Given the description of an element on the screen output the (x, y) to click on. 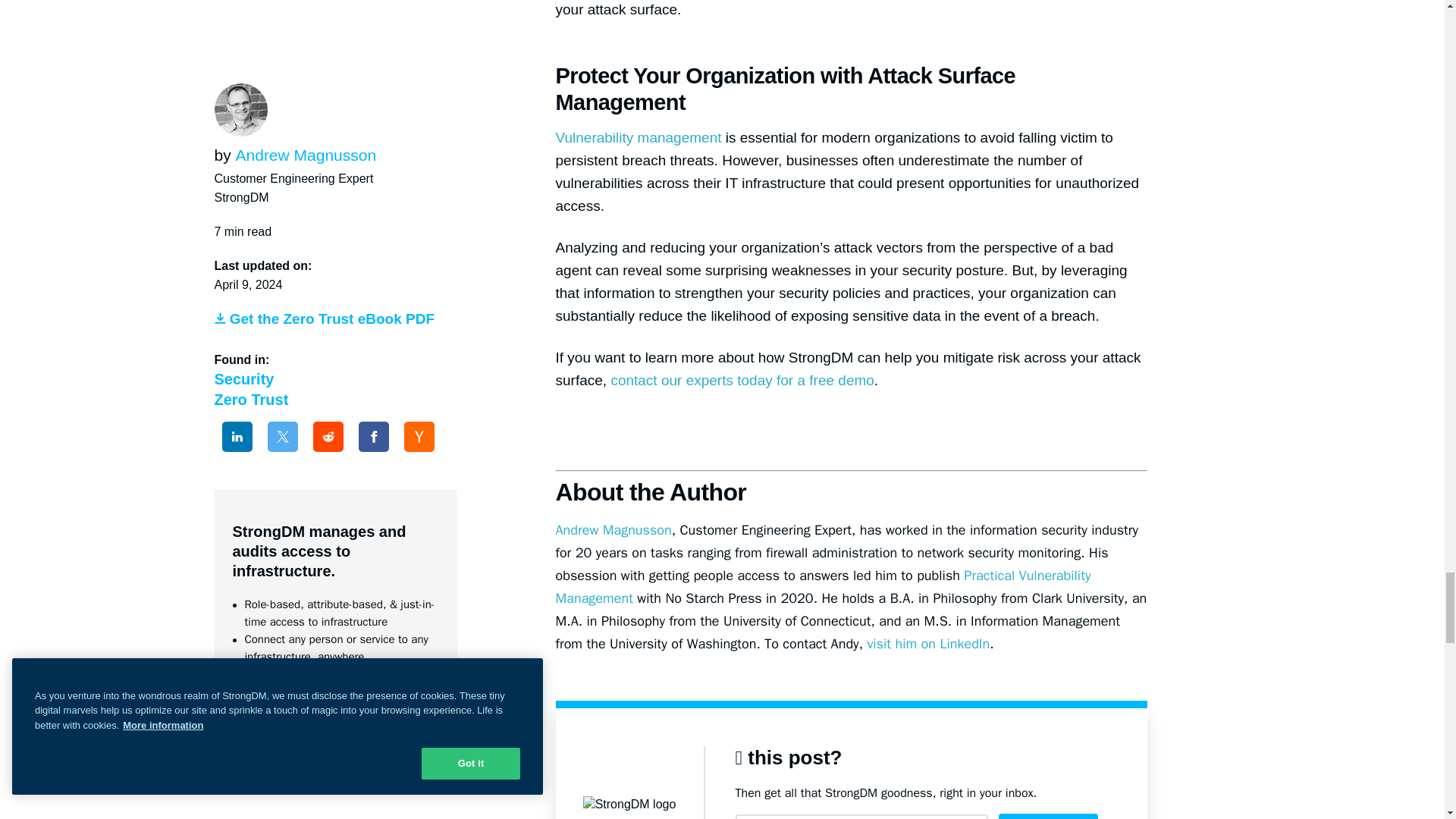
Subscribe (1047, 816)
